Given the description of an element on the screen output the (x, y) to click on. 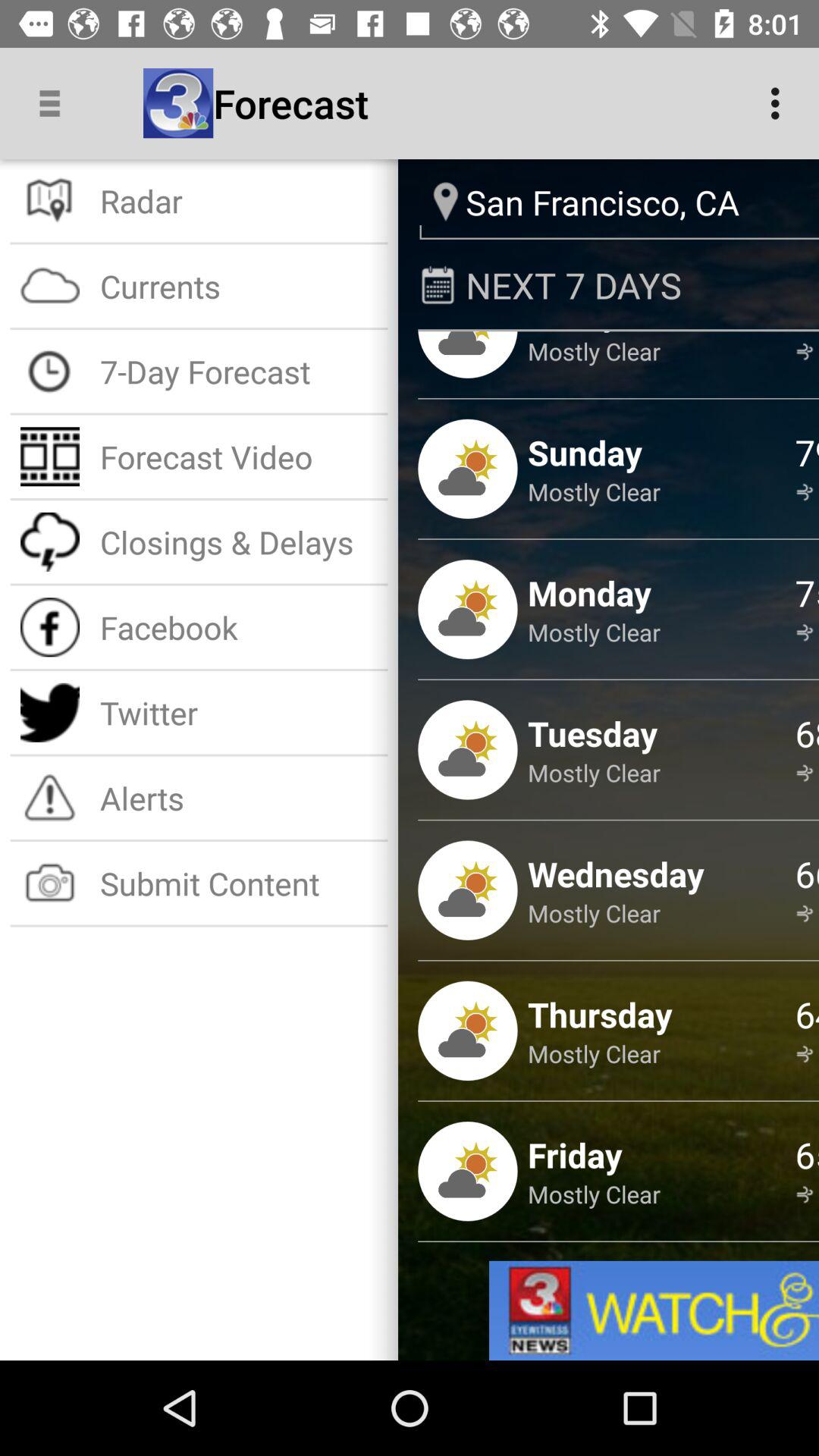
turn off the icon to the right of the mostly clear item (807, 733)
